Given the description of an element on the screen output the (x, y) to click on. 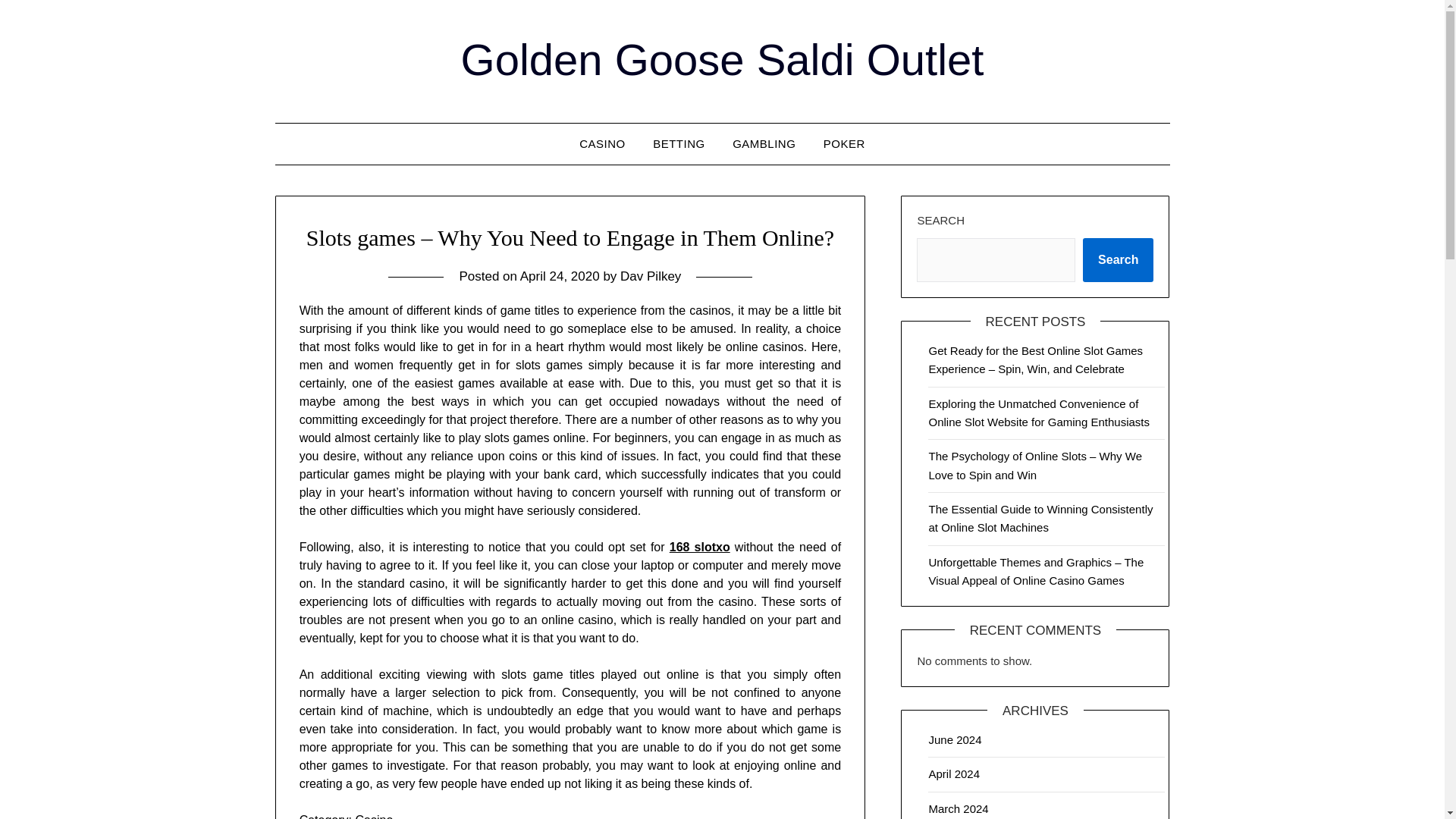
June 2024 (954, 739)
GAMBLING (764, 143)
March 2024 (958, 808)
Search (1118, 259)
168 slotxo (699, 546)
Casino (374, 816)
April 24, 2020 (559, 276)
CASINO (602, 143)
